Given the description of an element on the screen output the (x, y) to click on. 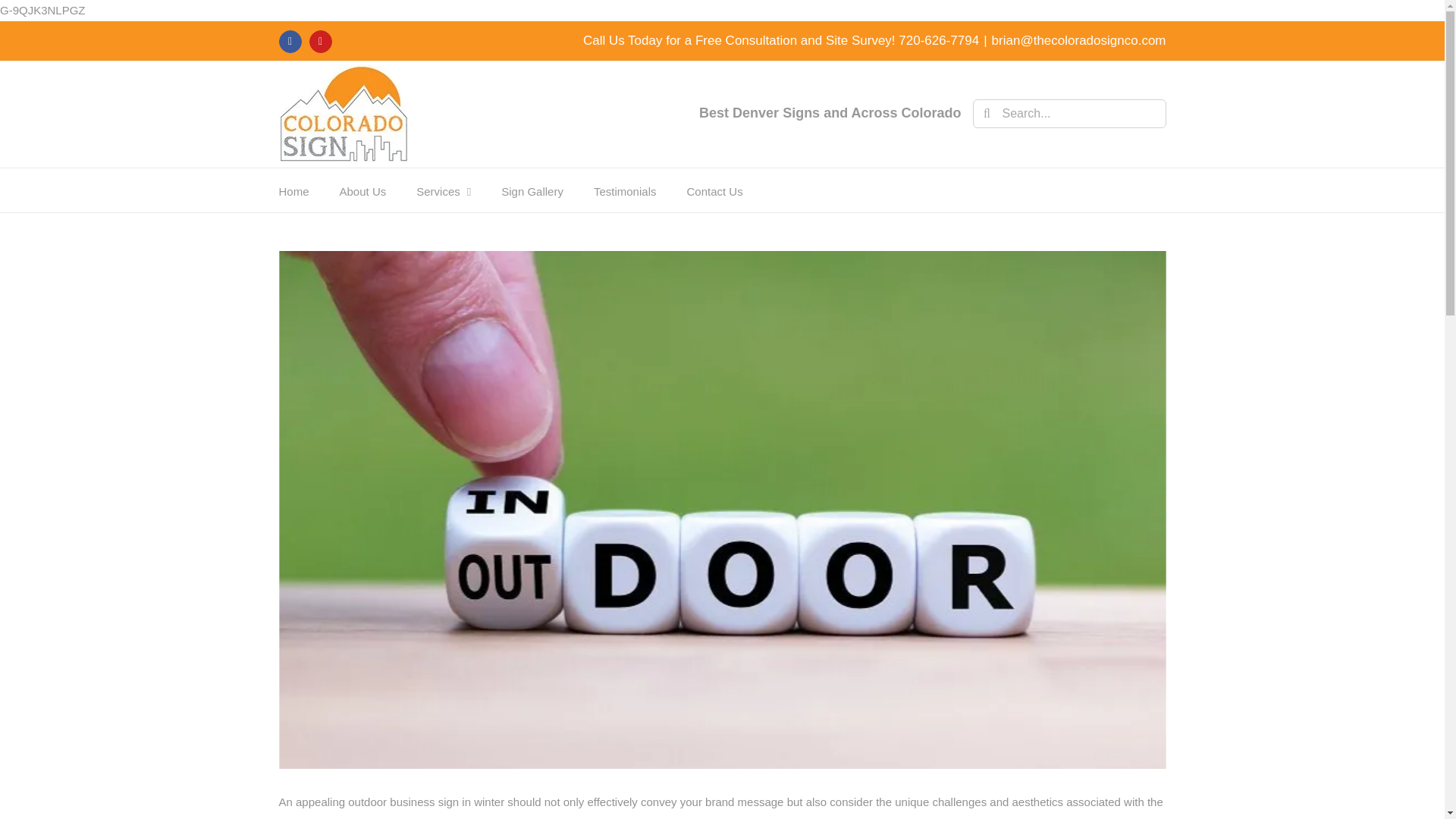
noticeable outdoor signs Denver area (651, 817)
Facebook (290, 41)
YouTube (319, 41)
Services (443, 190)
Testimonials (625, 190)
Contact Us (713, 190)
About Us (363, 190)
720-626-7794 (938, 40)
Sign Gallery (531, 190)
